Given the description of an element on the screen output the (x, y) to click on. 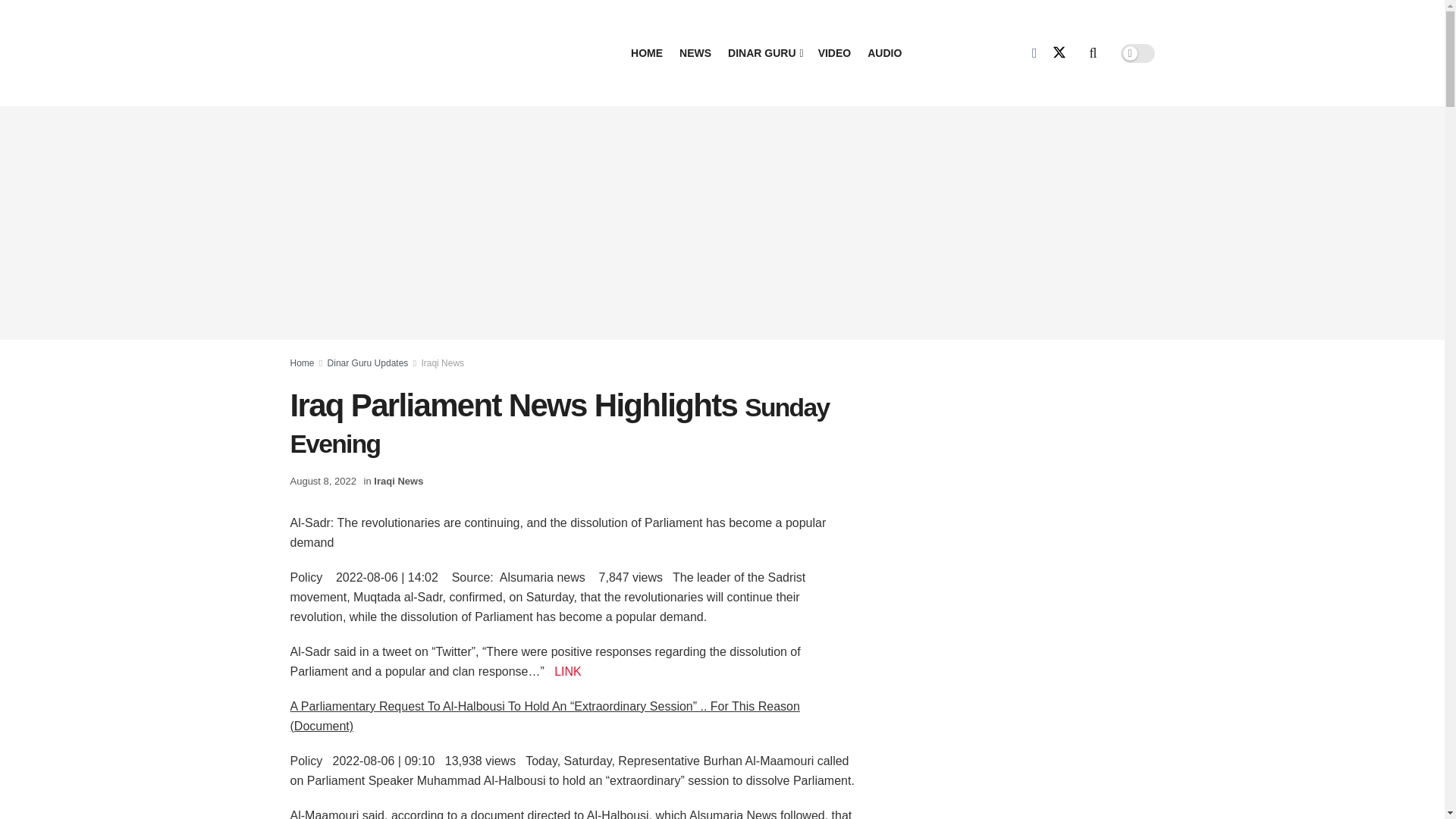
VIDEO (834, 52)
HOME (646, 52)
DINAR GURU (765, 52)
NEWS (695, 52)
AUDIO (884, 52)
